Given the description of an element on the screen output the (x, y) to click on. 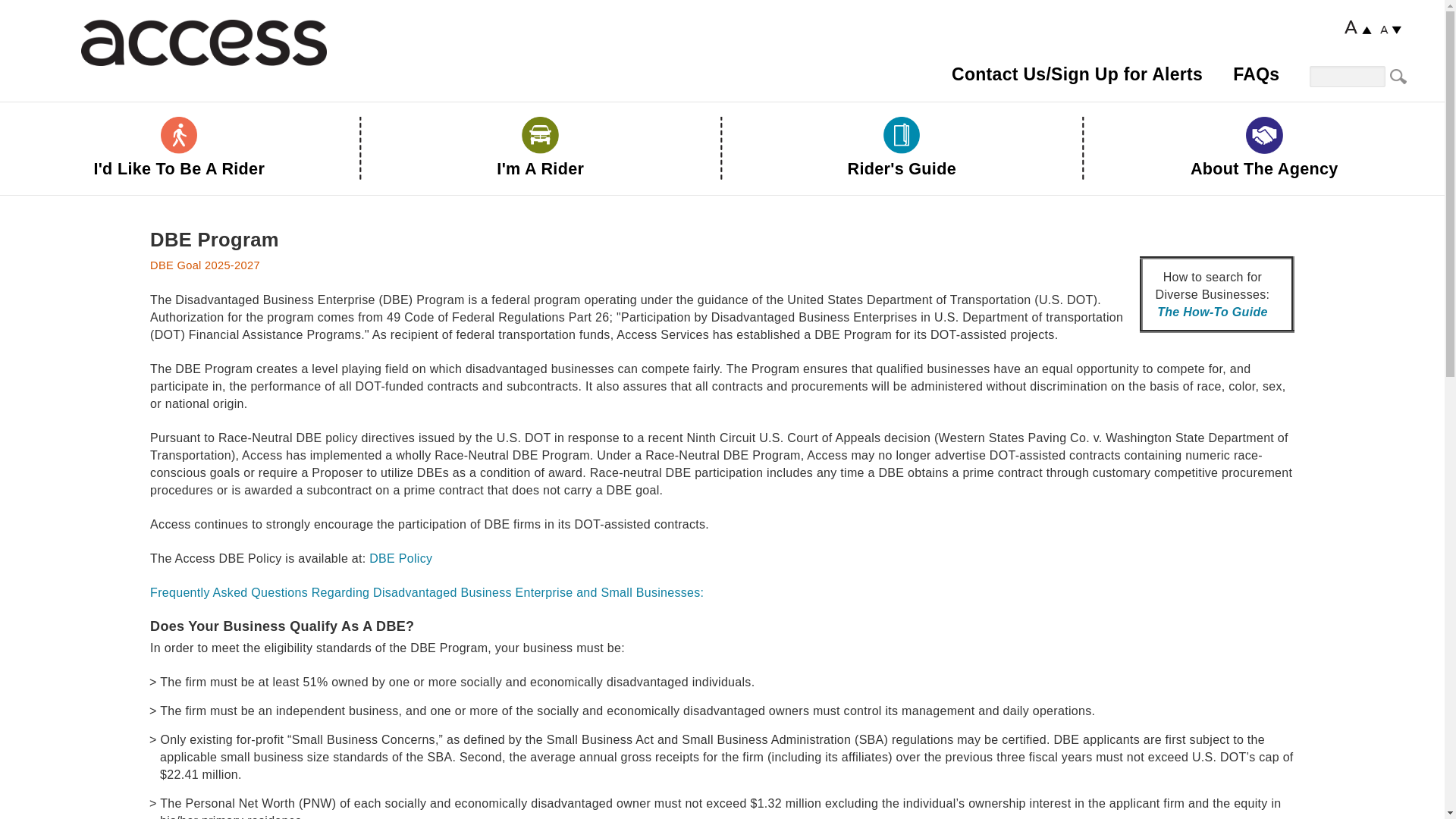
Rider's Guide (901, 154)
A (1390, 29)
Search (1399, 77)
Home (203, 42)
FAQs (1256, 74)
Search (1399, 77)
DBE Goal 2025-2027 Document (204, 264)
DBE FAQ (426, 592)
A (1357, 27)
DBE Program Guide (400, 558)
The How To Guide (1212, 311)
